Given the description of an element on the screen output the (x, y) to click on. 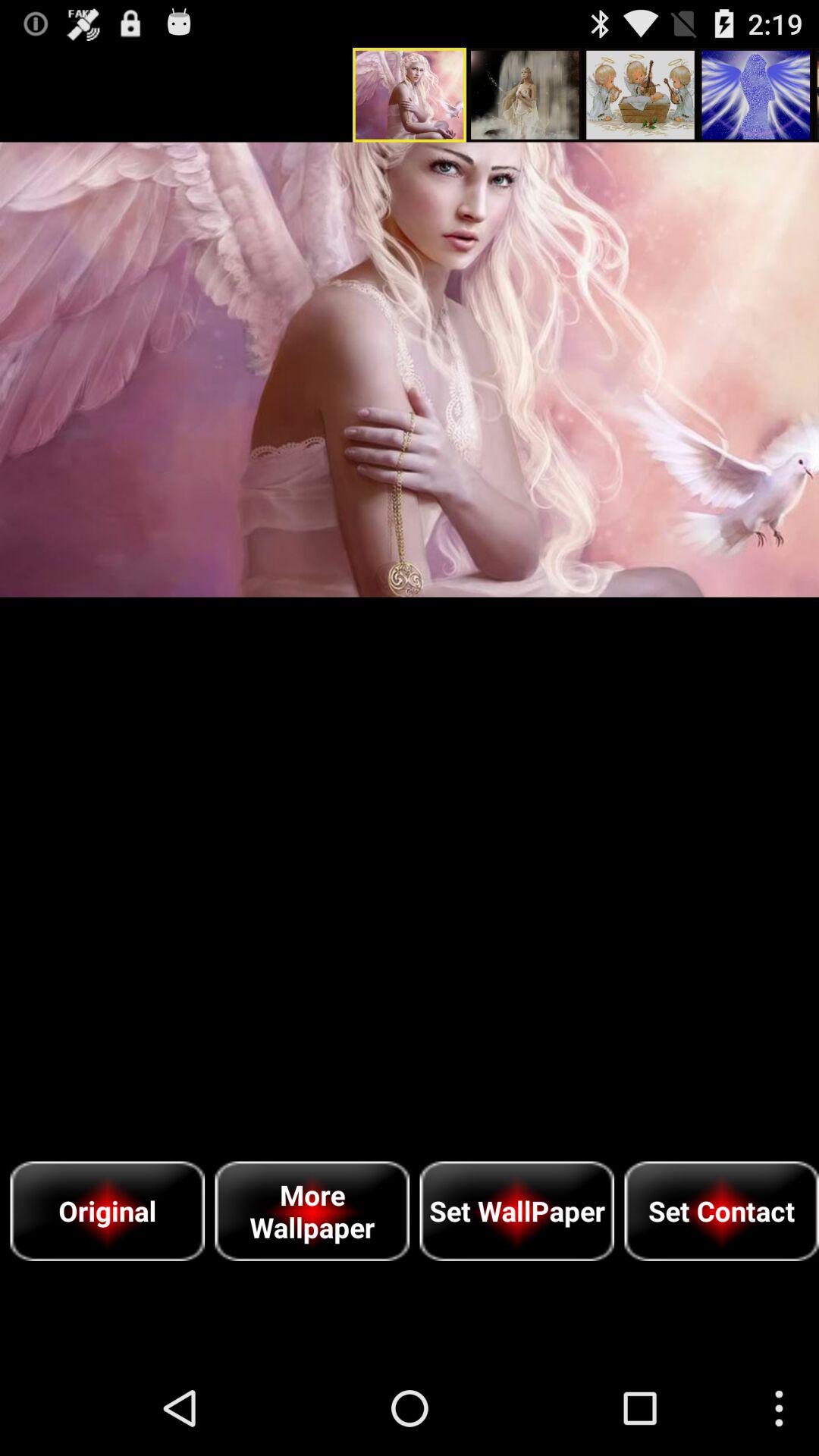
press the item to the right of original item (311, 1210)
